Given the description of an element on the screen output the (x, y) to click on. 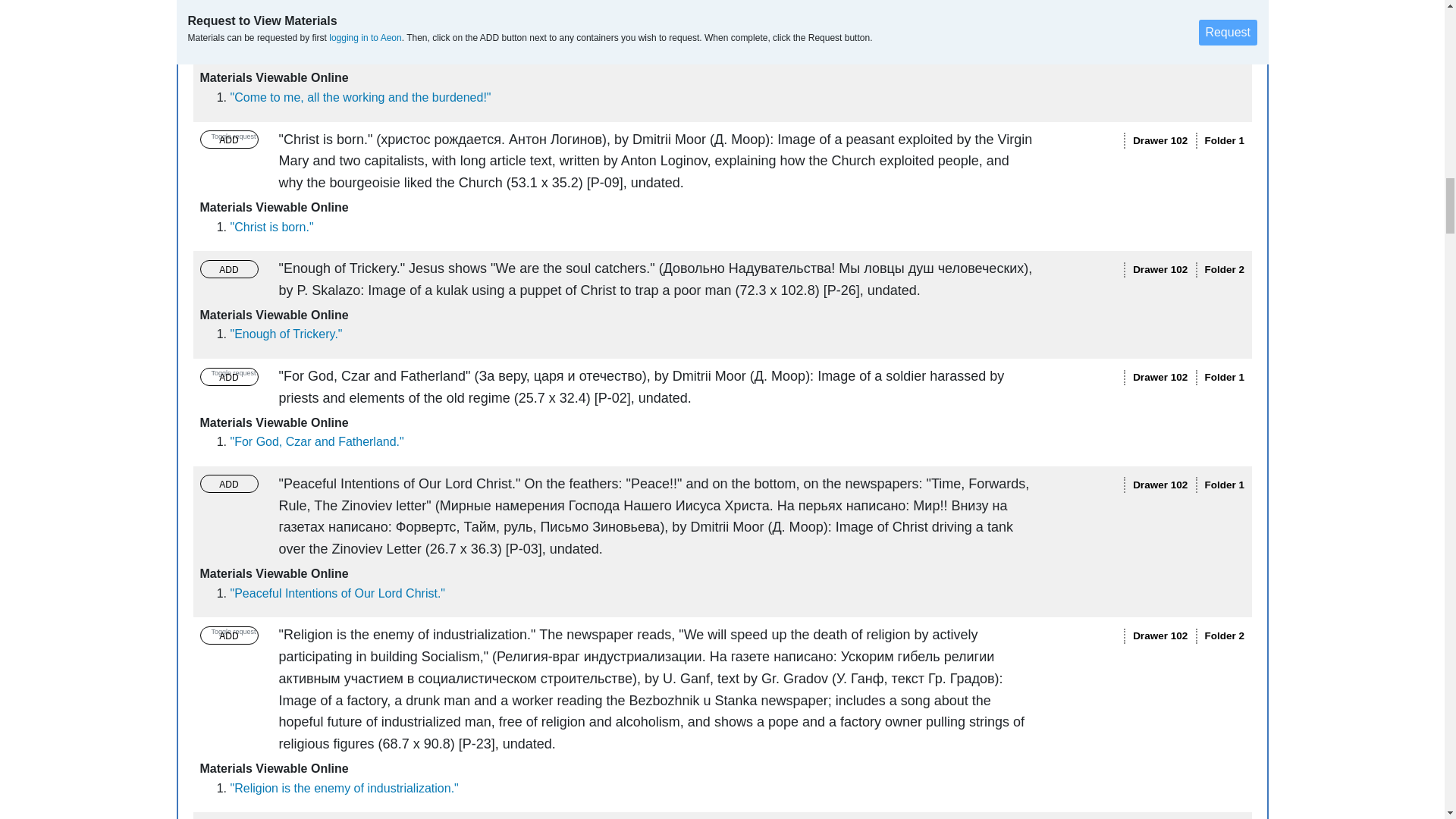
"Religion is the enemy of industrialization." (344, 788)
"Peaceful Intentions of Our Lord Christ." (337, 593)
"Enough of Trickery." (286, 333)
"For God, Czar and Fatherland." (317, 440)
"Christ is born." (272, 226)
"Come to me, all the working and the burdened!" (361, 97)
